Given the description of an element on the screen output the (x, y) to click on. 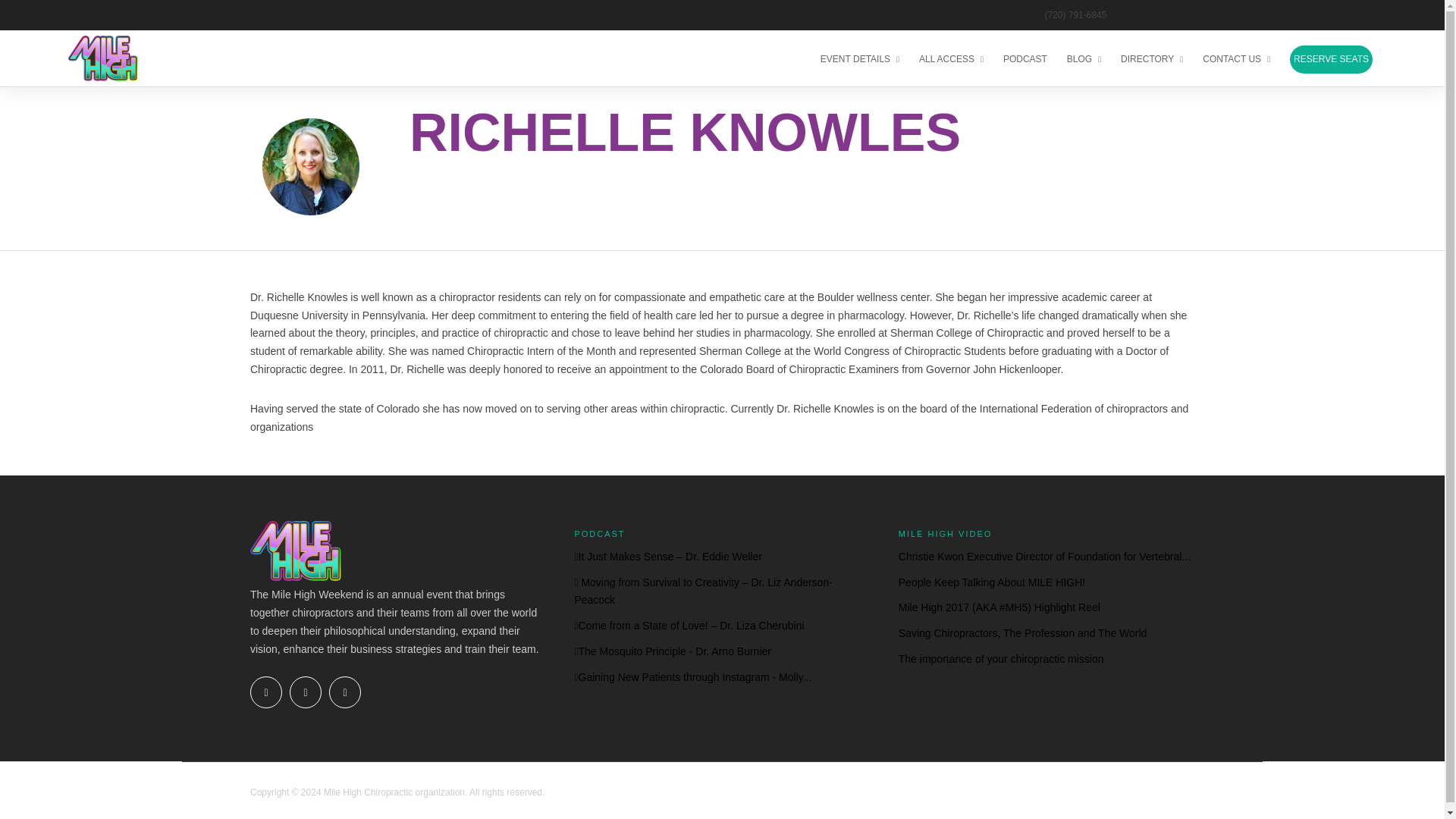
EVENT DETAILS (866, 57)
Instagram (345, 692)
Twitter (305, 692)
Facebook (266, 692)
JOIN OUR FACEBOOK GROUP (946, 14)
